Given the description of an element on the screen output the (x, y) to click on. 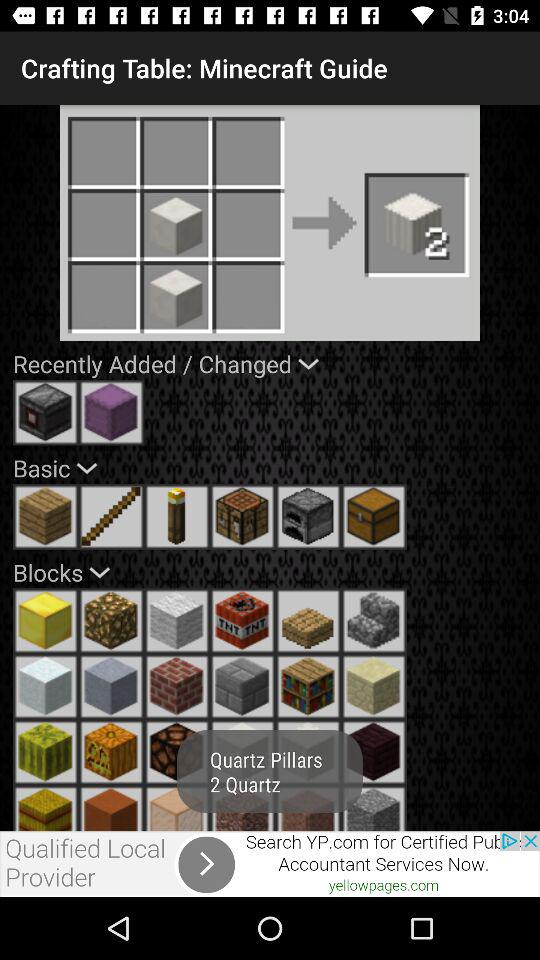
click the third block option (177, 621)
